Given the description of an element on the screen output the (x, y) to click on. 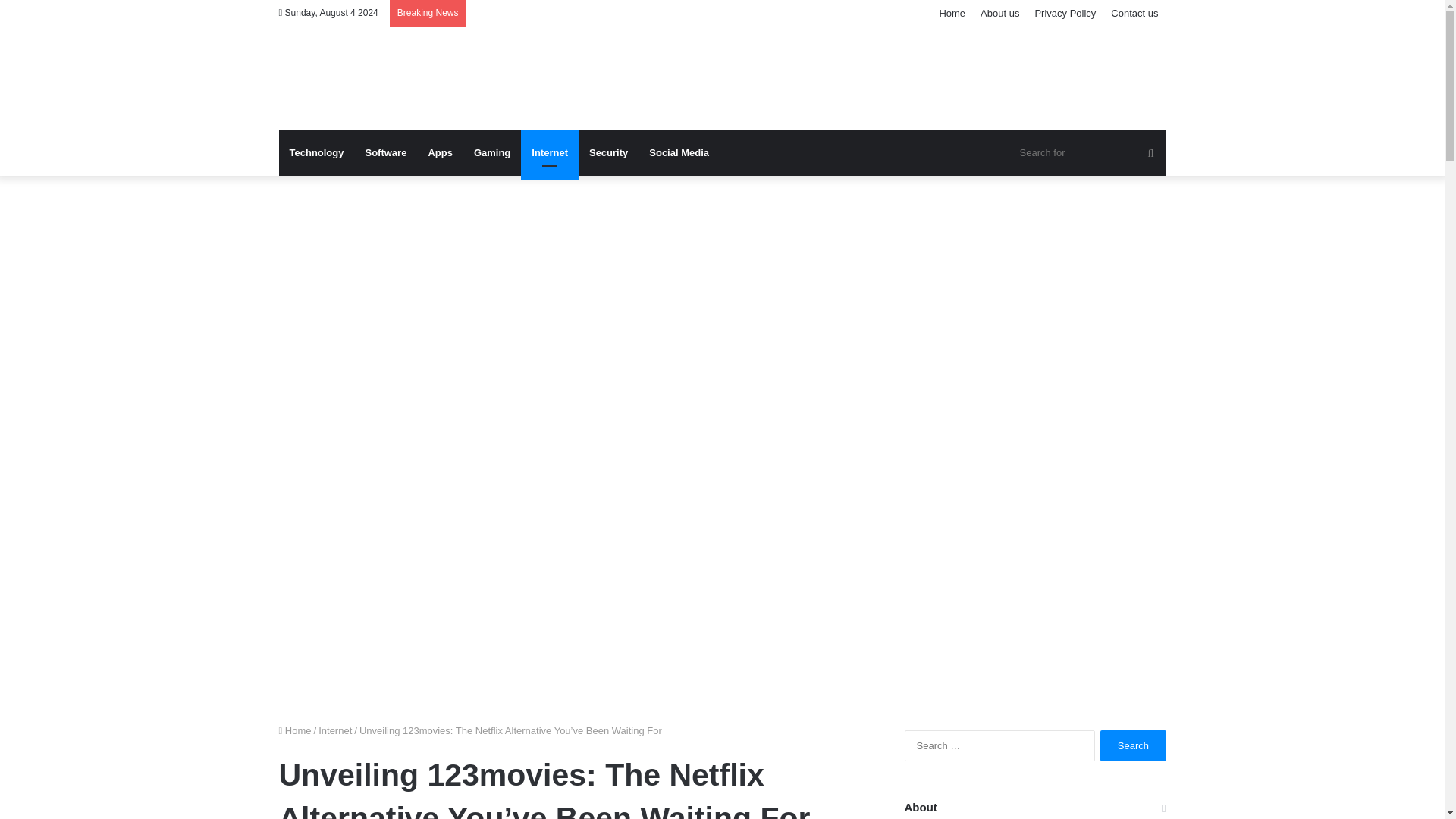
Home (295, 730)
Home (951, 13)
Contact us (1134, 13)
Software (384, 153)
Search (1133, 745)
Privacy Policy (1064, 13)
Search for (1150, 153)
Search (1133, 745)
Internet (335, 730)
Internet (549, 153)
Search for (1088, 153)
Security (608, 153)
Social Media (679, 153)
About us (999, 13)
Apps (439, 153)
